Given the description of an element on the screen output the (x, y) to click on. 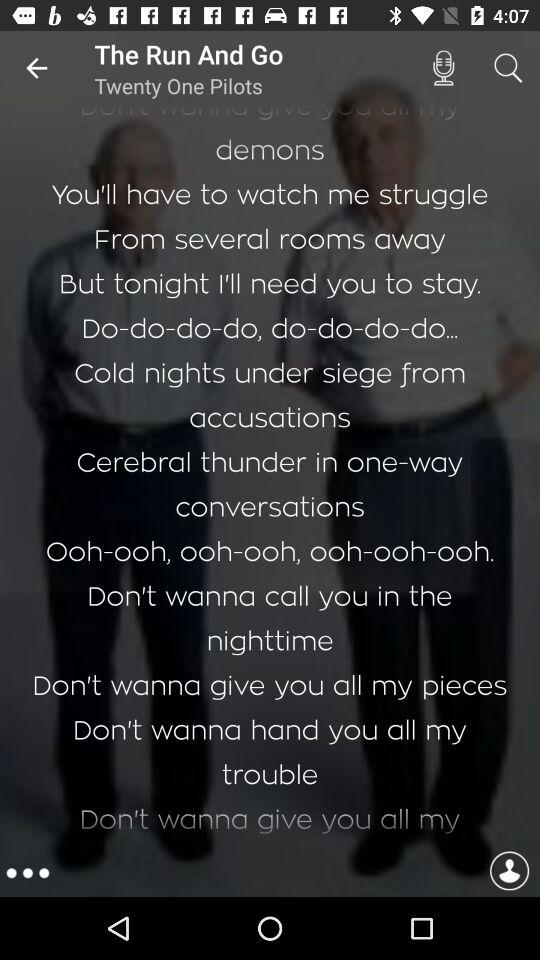
tap item at the bottom left corner (27, 873)
